Given the description of an element on the screen output the (x, y) to click on. 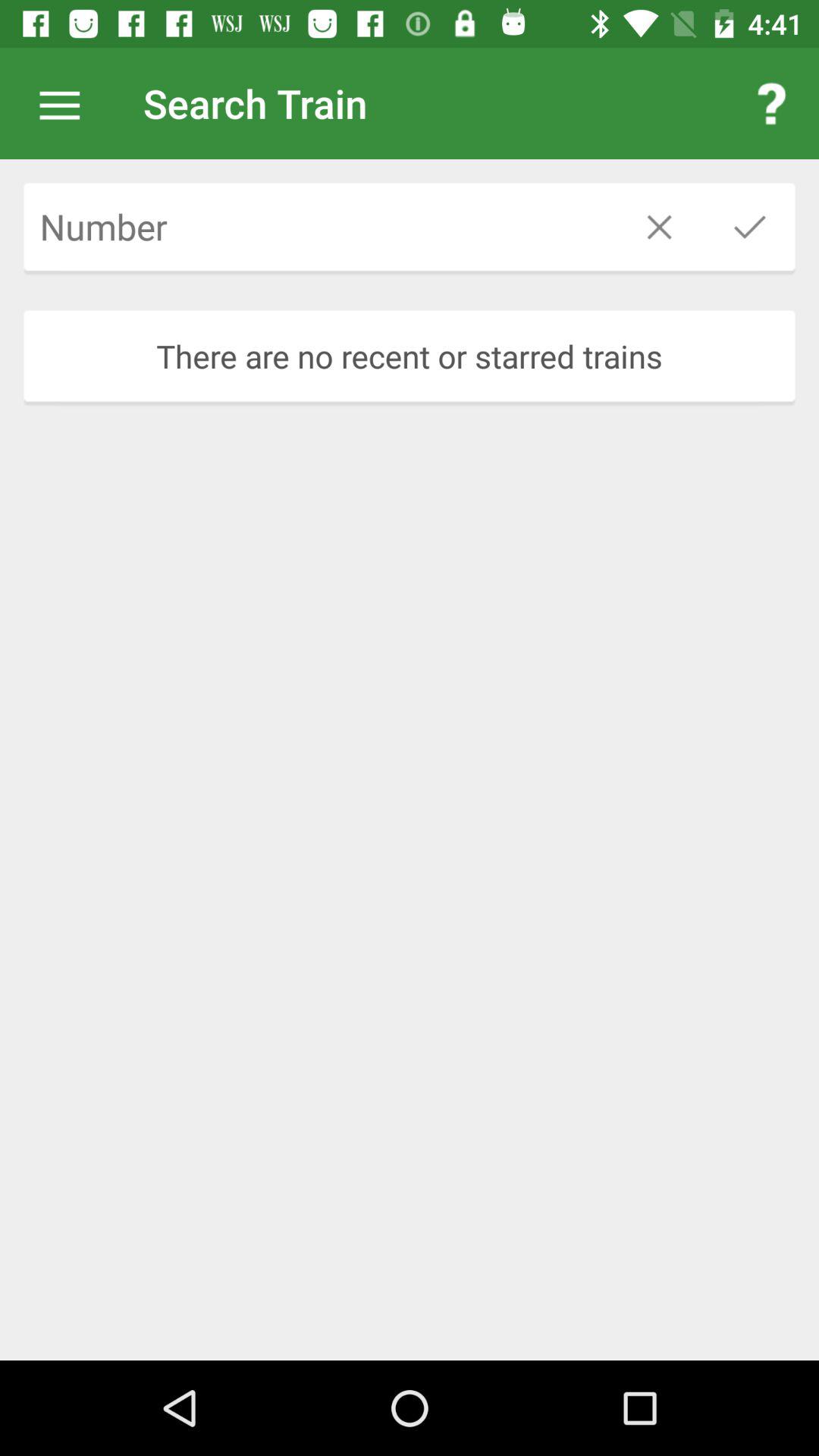
enter train number to be searched (318, 226)
